Given the description of an element on the screen output the (x, y) to click on. 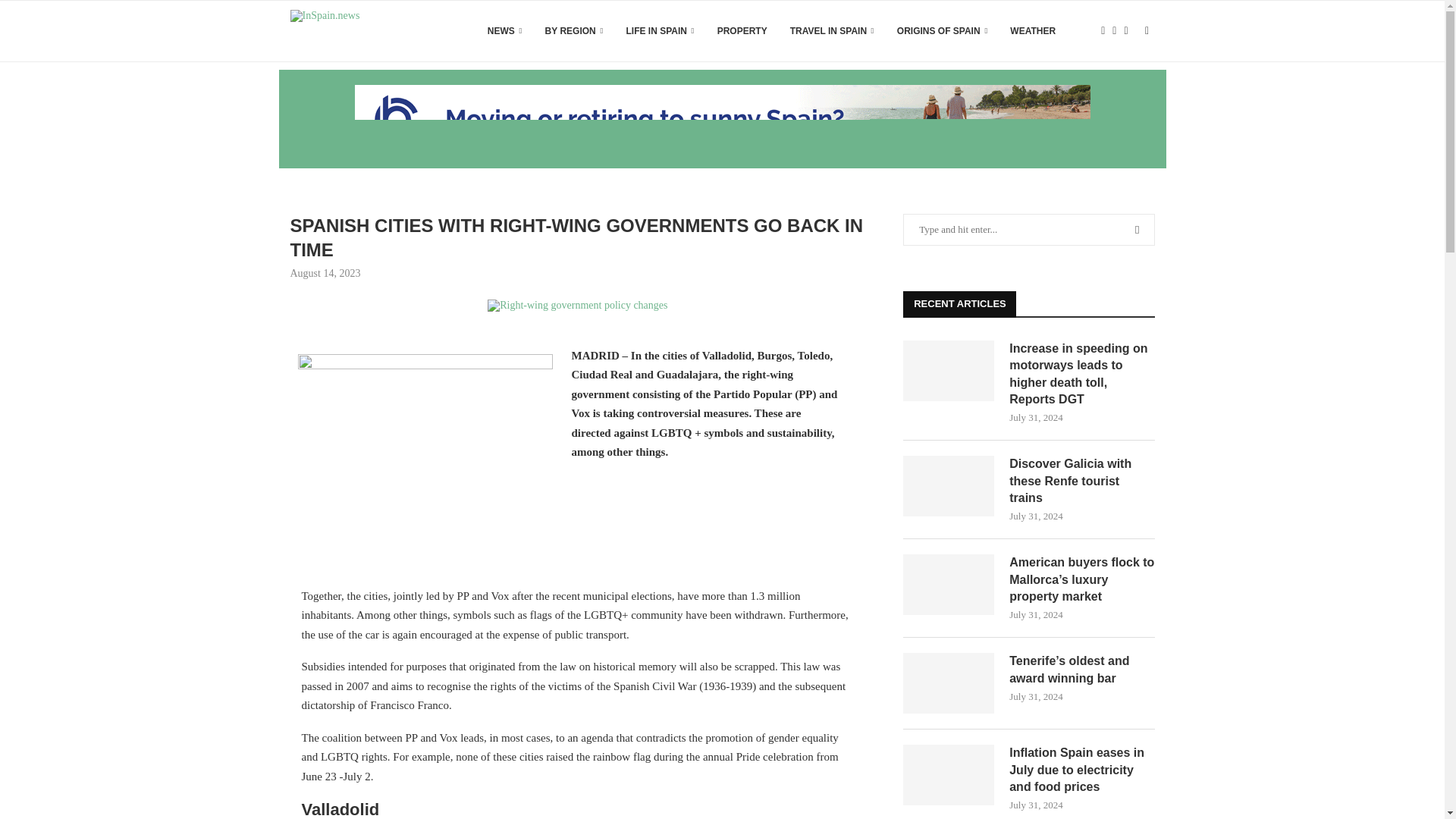
TRAVEL IN SPAIN (832, 30)
BY REGION (574, 30)
ORIGINS OF SPAIN (942, 30)
Discover Galicia with these Renfe tourist trains (1081, 480)
LIFE IN SPAIN (660, 30)
BIKE LANE (576, 305)
Discover Galicia with these Renfe tourist trains (948, 485)
